Given the description of an element on the screen output the (x, y) to click on. 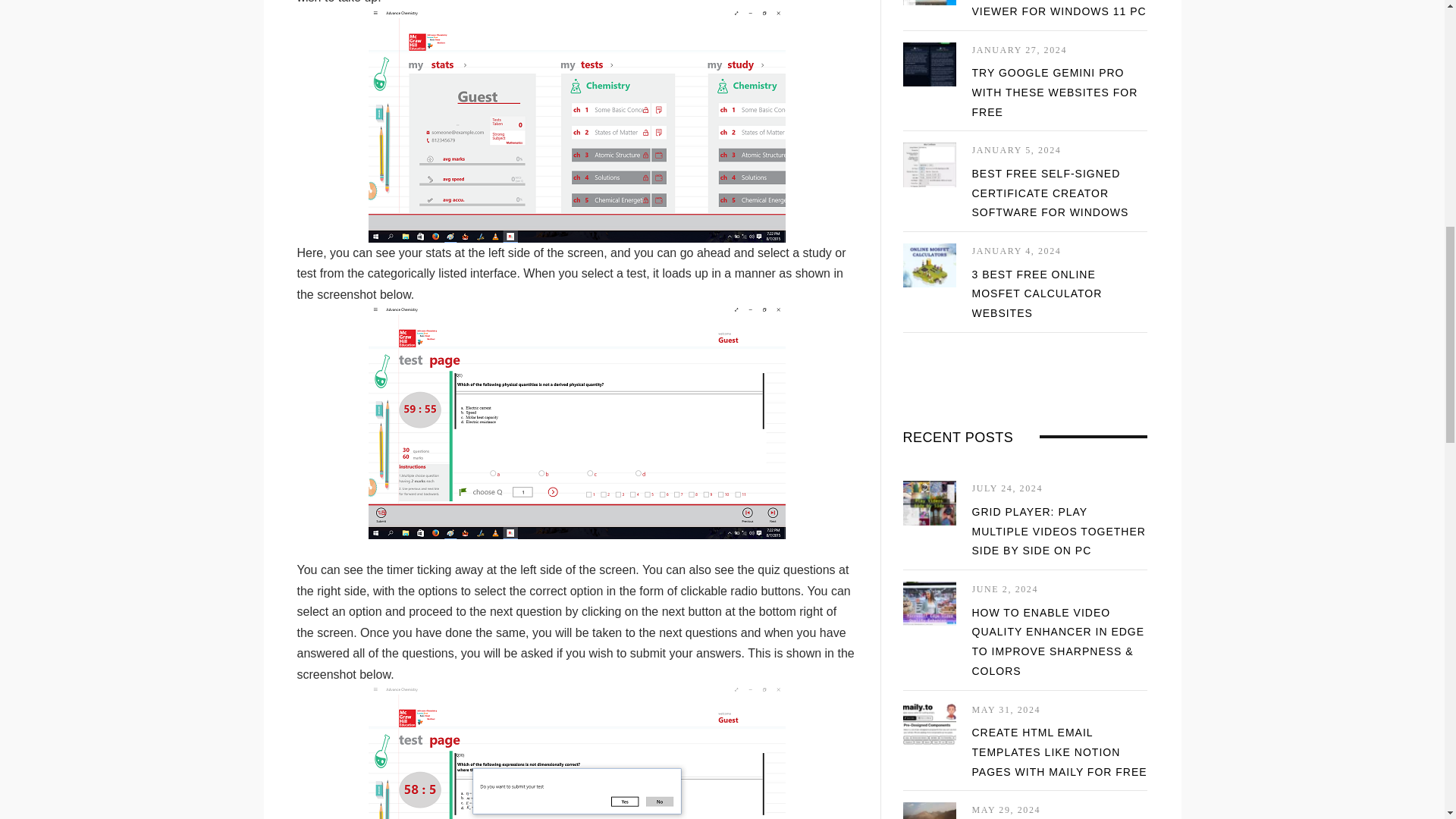
Advance Chemistry quiz (577, 421)
Advance Chemistry loaded (577, 125)
Advance Chemistry test complete (577, 751)
